Given the description of an element on the screen output the (x, y) to click on. 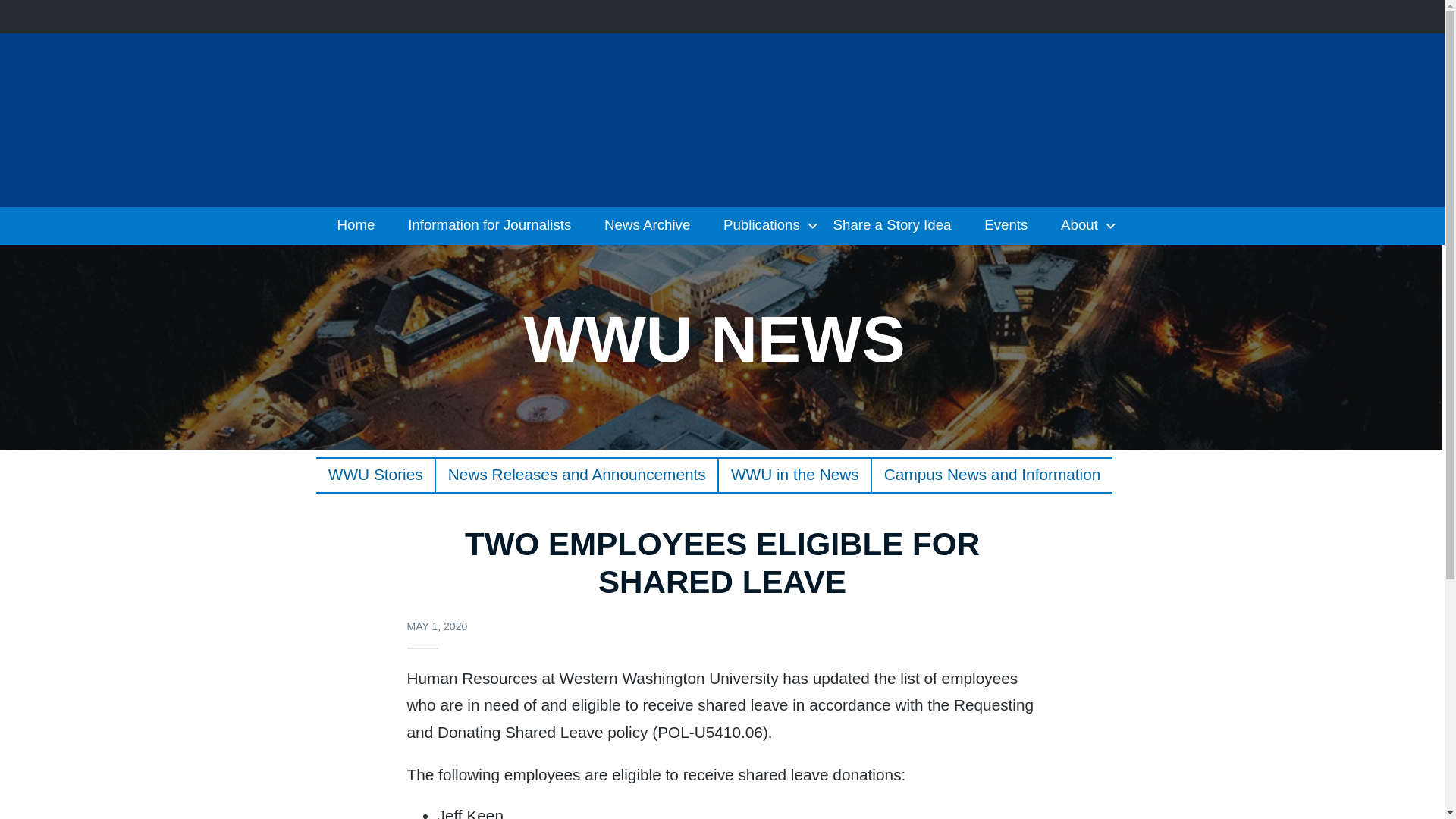
About (1083, 225)
Publications (766, 225)
Share a Story Idea (896, 225)
Events (1010, 225)
Information for Journalists (494, 225)
News Releases and Announcements (576, 475)
News Archive (651, 225)
WWU Stories (374, 475)
WWU in the News (794, 475)
Campus News and Information (992, 475)
